Given the description of an element on the screen output the (x, y) to click on. 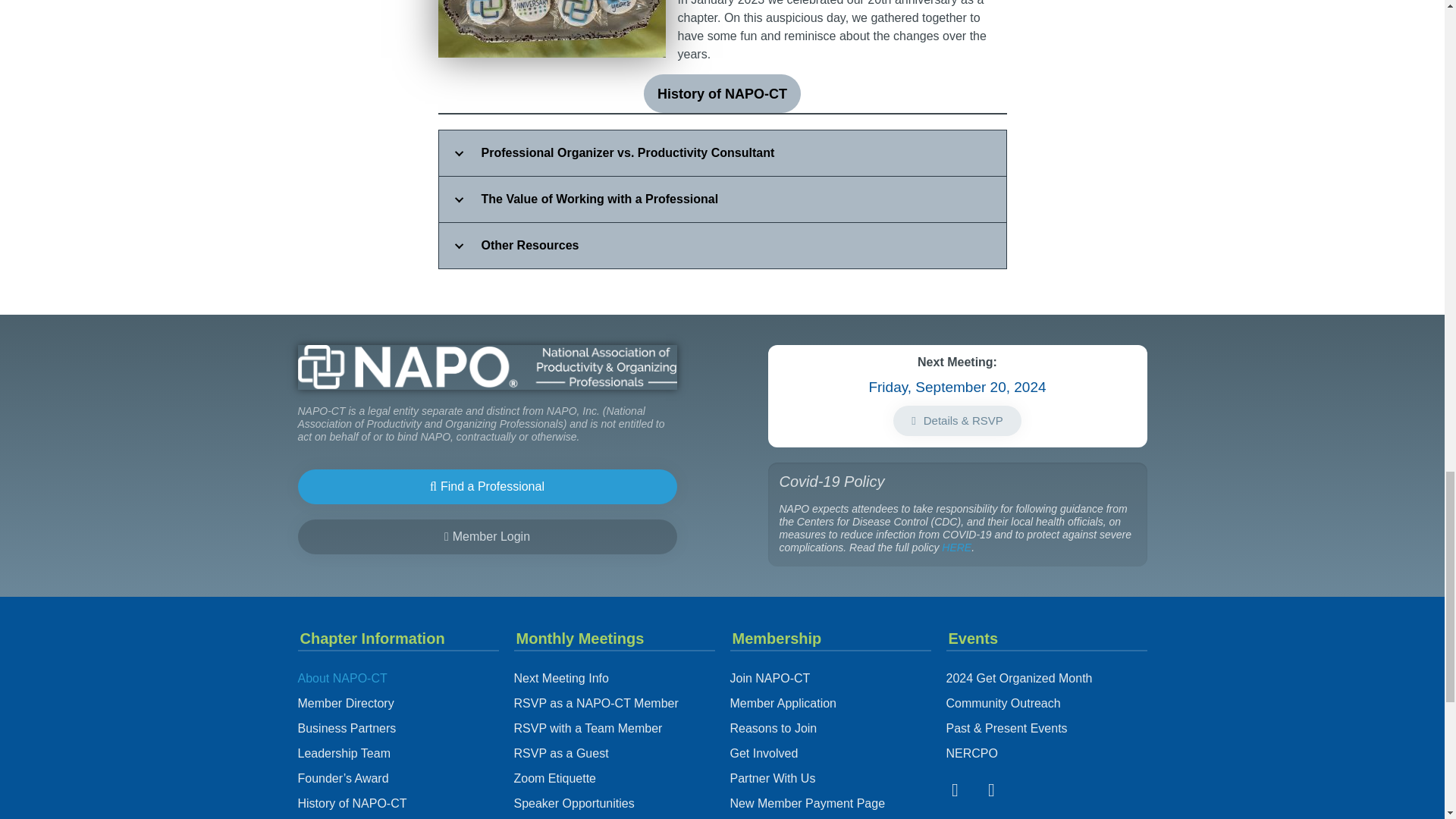
Find a Professional (487, 486)
History of NAPO-CT (721, 93)
Member Login (487, 536)
